Given the description of an element on the screen output the (x, y) to click on. 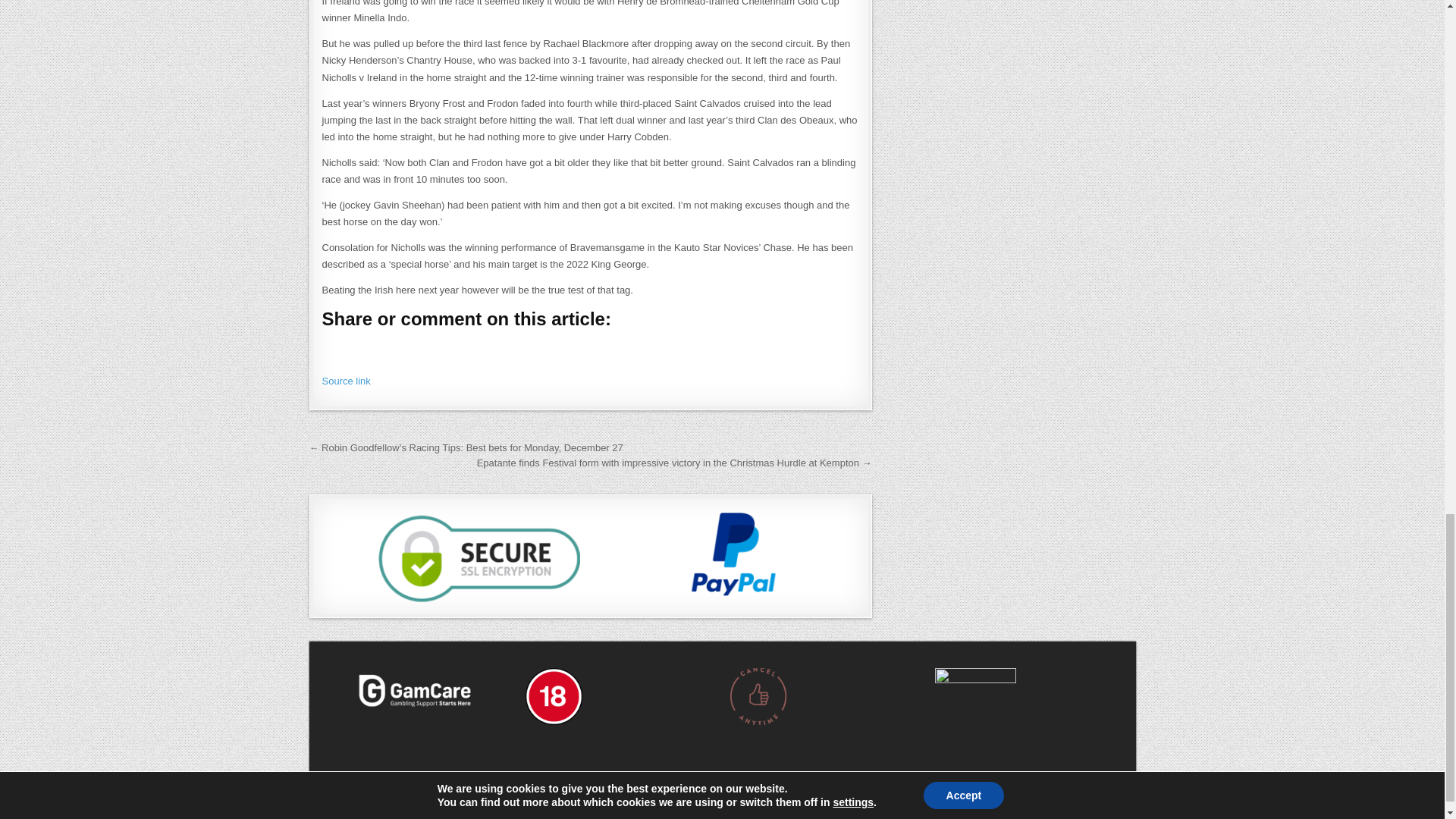
Source link (345, 379)
Designed by Pablo Alf (722, 811)
